Given the description of an element on the screen output the (x, y) to click on. 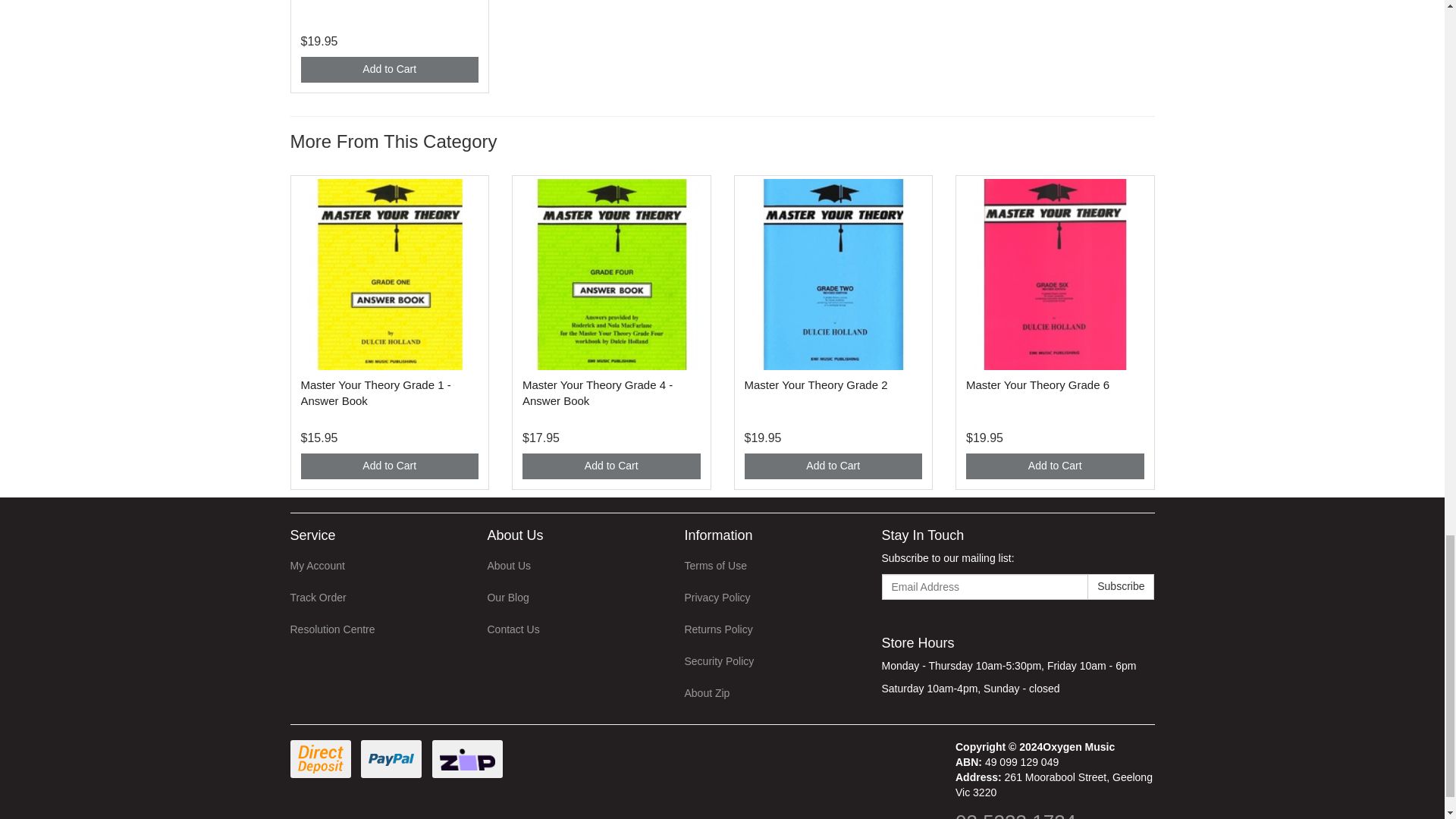
Master Your Theory Grade 6 (1037, 384)
Add to Cart (833, 466)
Add to Cart (389, 466)
Add to Cart (389, 69)
Master Your Theory Grade 4 - Answer Book (597, 392)
Subscribe (1120, 586)
Master Your Theory Grade 2 (816, 384)
Master Your Theory Grade 1 - Answer Book (374, 392)
Add to Cart (1055, 466)
Add to Cart (611, 466)
